Given the description of an element on the screen output the (x, y) to click on. 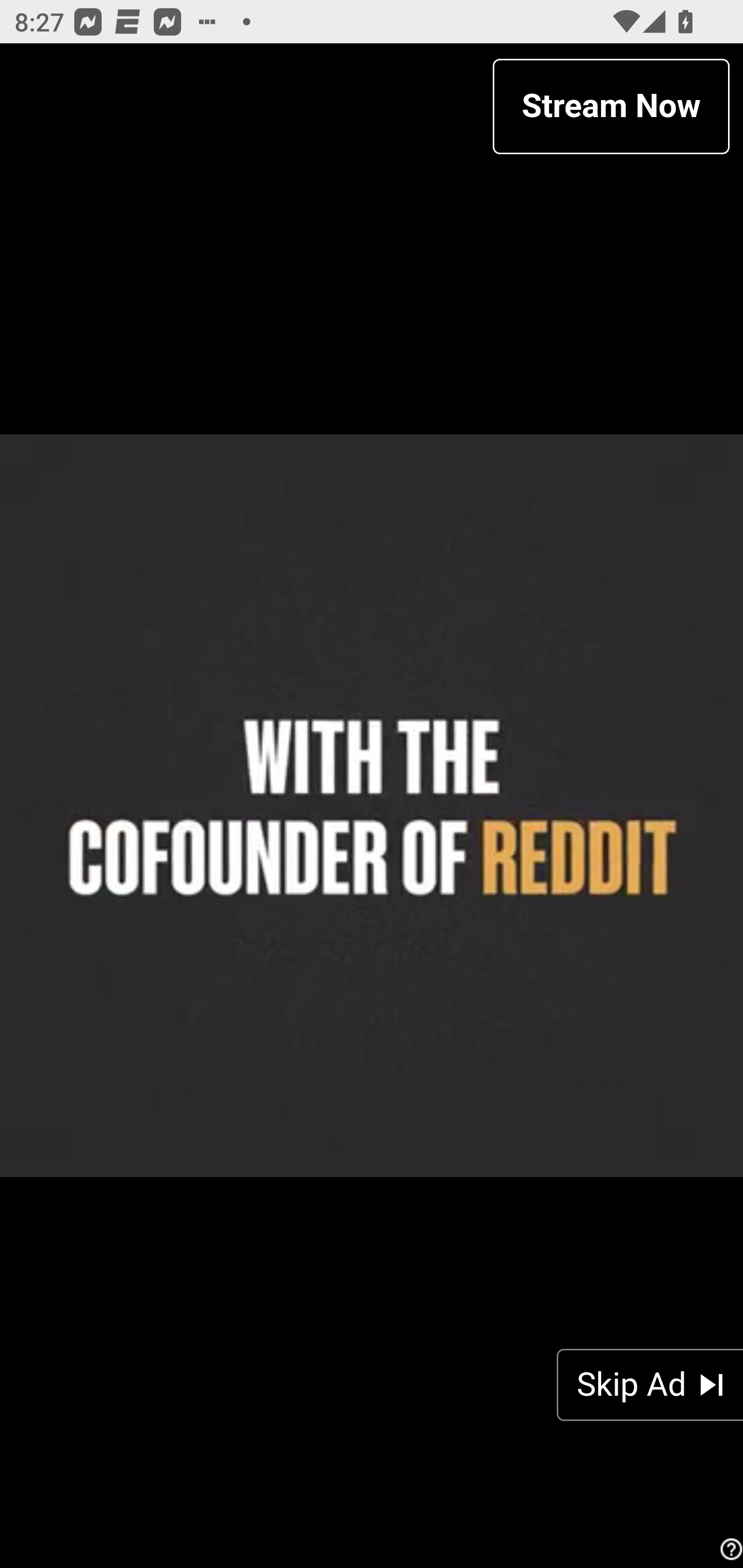
Stream Now (611, 106)
help_outline_white_24dp_with_3px_trbl_padding (728, 1548)
